Given the description of an element on the screen output the (x, y) to click on. 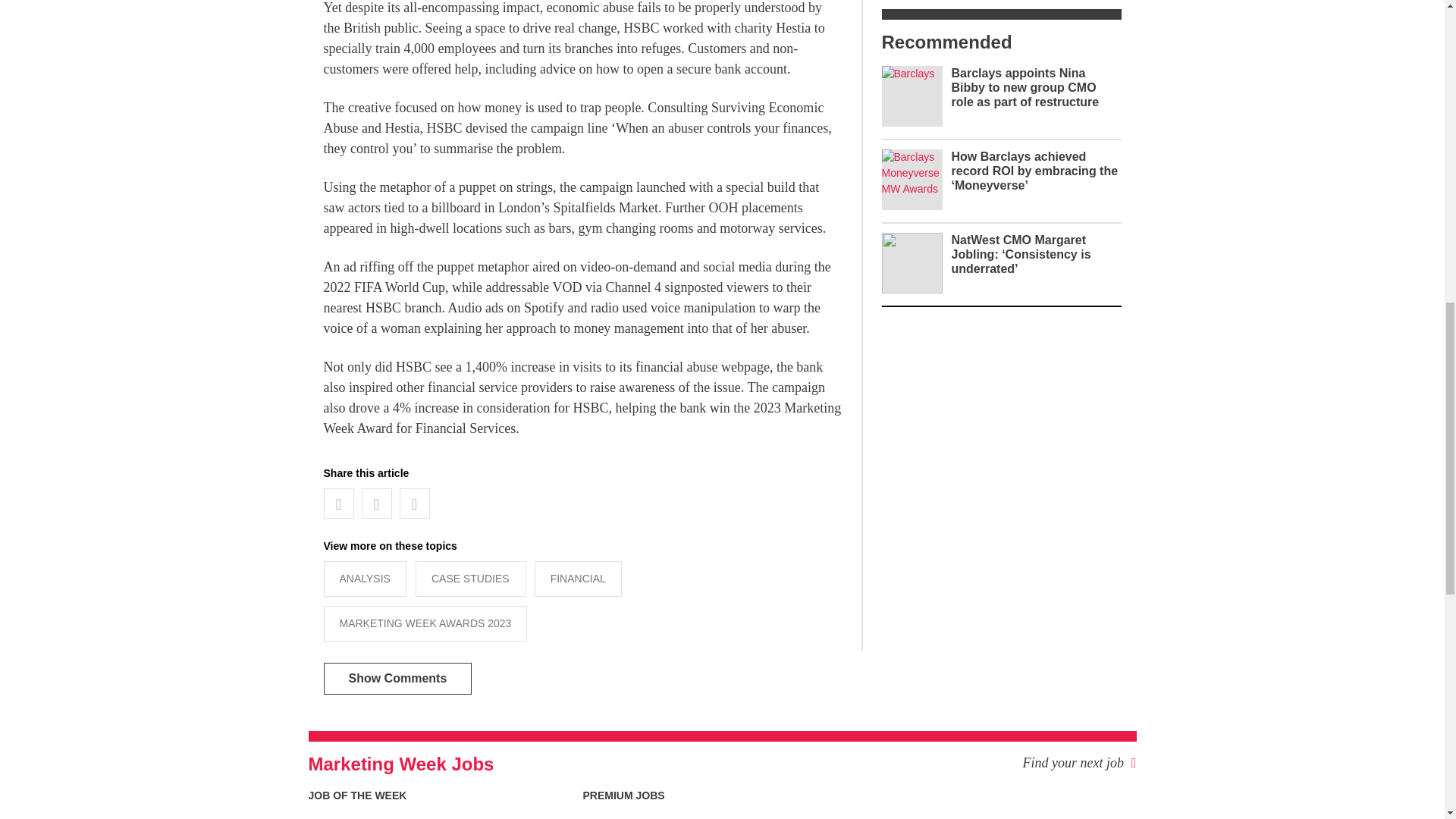
MARKETING WEEK AWARDS 2023 (425, 623)
FINANCIAL (577, 579)
ANALYSIS (364, 579)
CASE STUDIES (469, 579)
